Given the description of an element on the screen output the (x, y) to click on. 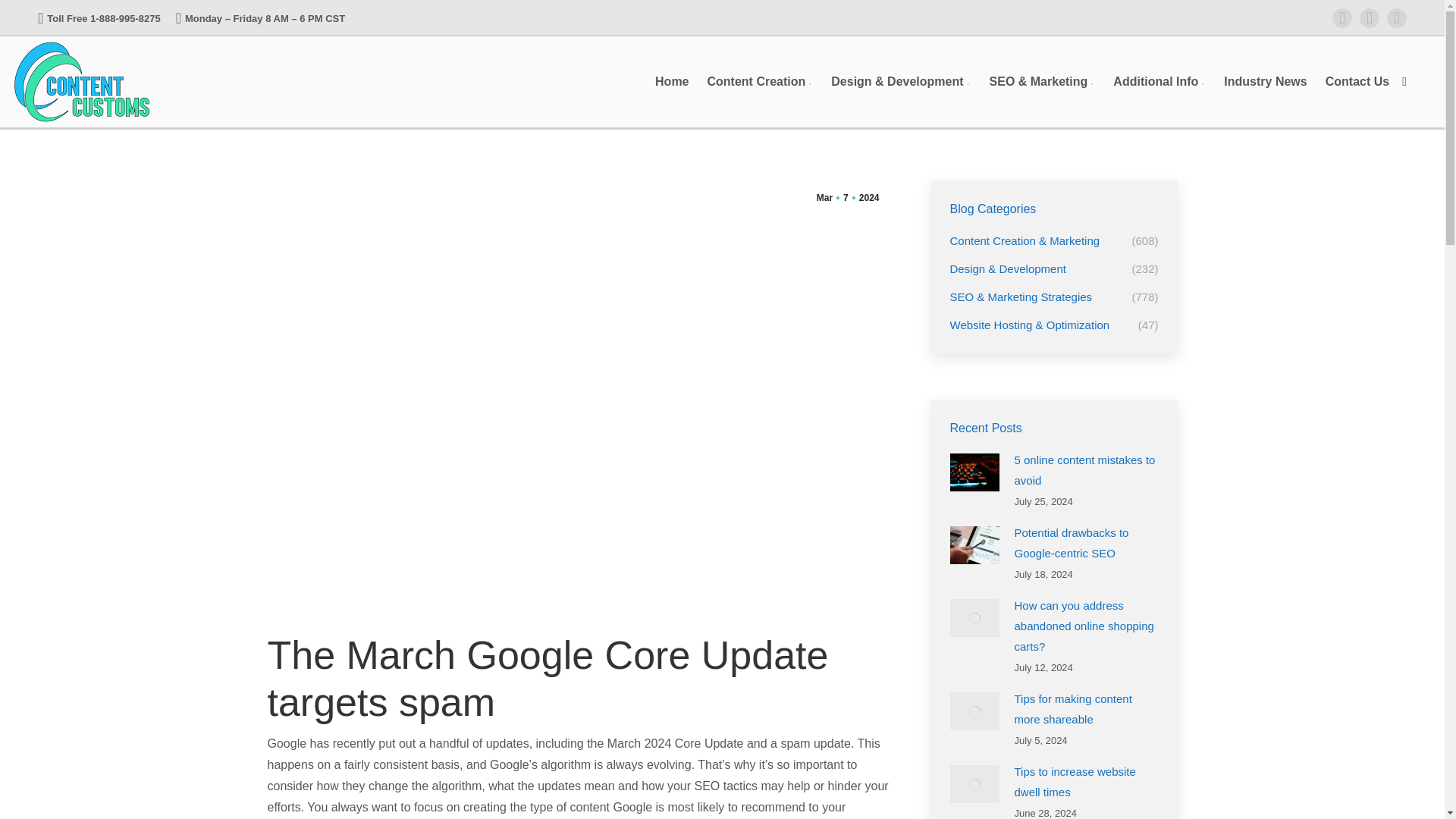
Facebook page opens in new window (1342, 17)
Contact Us (1356, 81)
Home (671, 81)
Content Creation (759, 81)
Industry News (1264, 81)
Linkedin page opens in new window (1396, 17)
Linkedin page opens in new window (1396, 17)
3:34 pm (847, 197)
Twitter page opens in new window (1368, 17)
Facebook page opens in new window (1342, 17)
Additional Info (1158, 81)
Twitter page opens in new window (1368, 17)
